Given the description of an element on the screen output the (x, y) to click on. 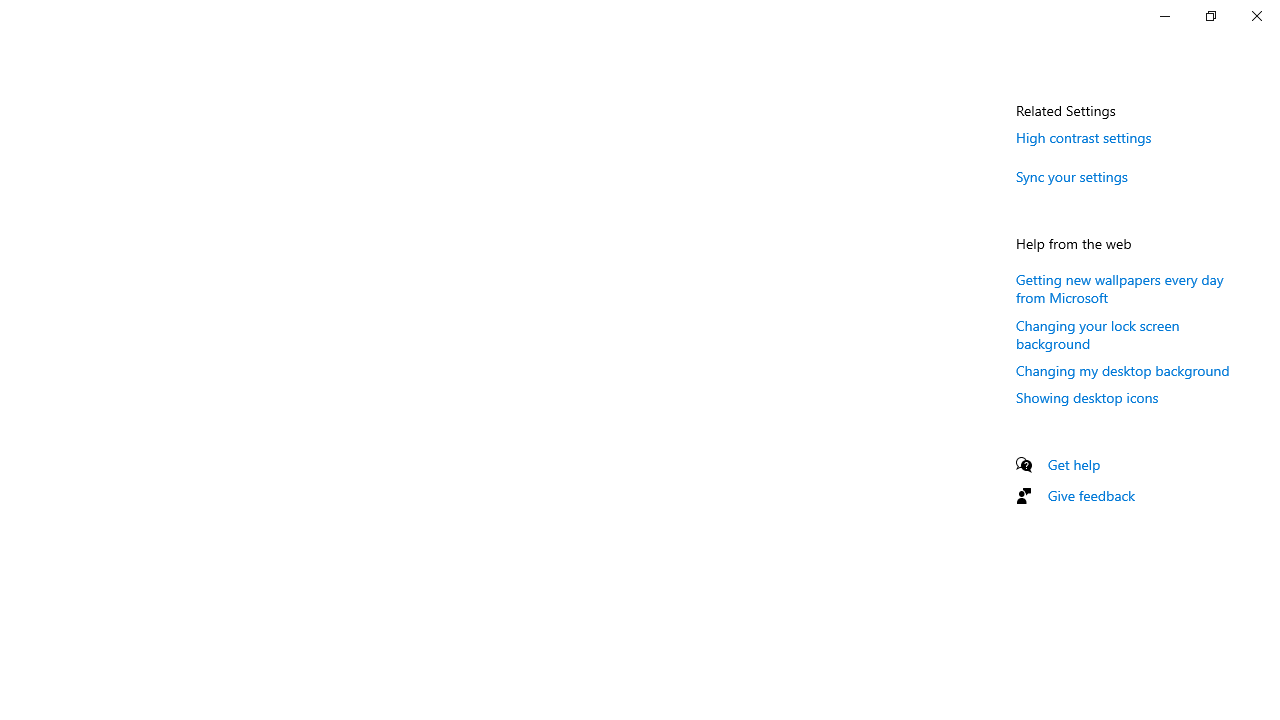
Changing your lock screen background (1098, 333)
Showing desktop icons (1087, 397)
Changing my desktop background (1123, 370)
Restore Settings (1210, 15)
Get help (1074, 464)
Sync your settings (1071, 176)
Close Settings (1256, 15)
Getting new wallpapers every day from Microsoft (1119, 287)
Give feedback (1091, 495)
High contrast settings (1084, 137)
Minimize Settings (1164, 15)
